Given the description of an element on the screen output the (x, y) to click on. 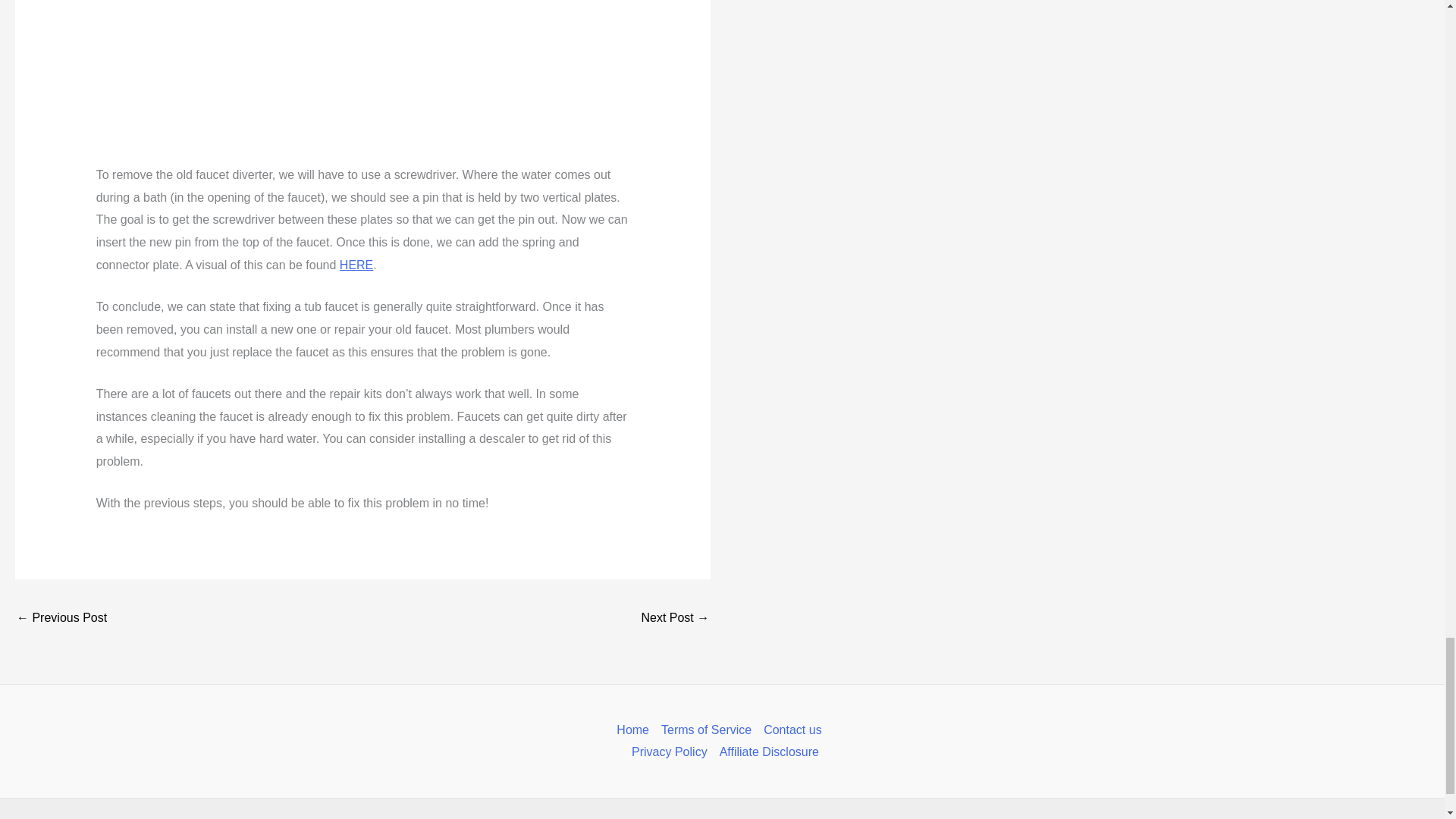
Affiliate Disclosure (765, 752)
Privacy Policy (669, 752)
Terms of Service (706, 730)
Home (635, 730)
Contact us (792, 730)
HERE (355, 264)
Bathtub Spout Leakage Repair (363, 81)
